Given the description of an element on the screen output the (x, y) to click on. 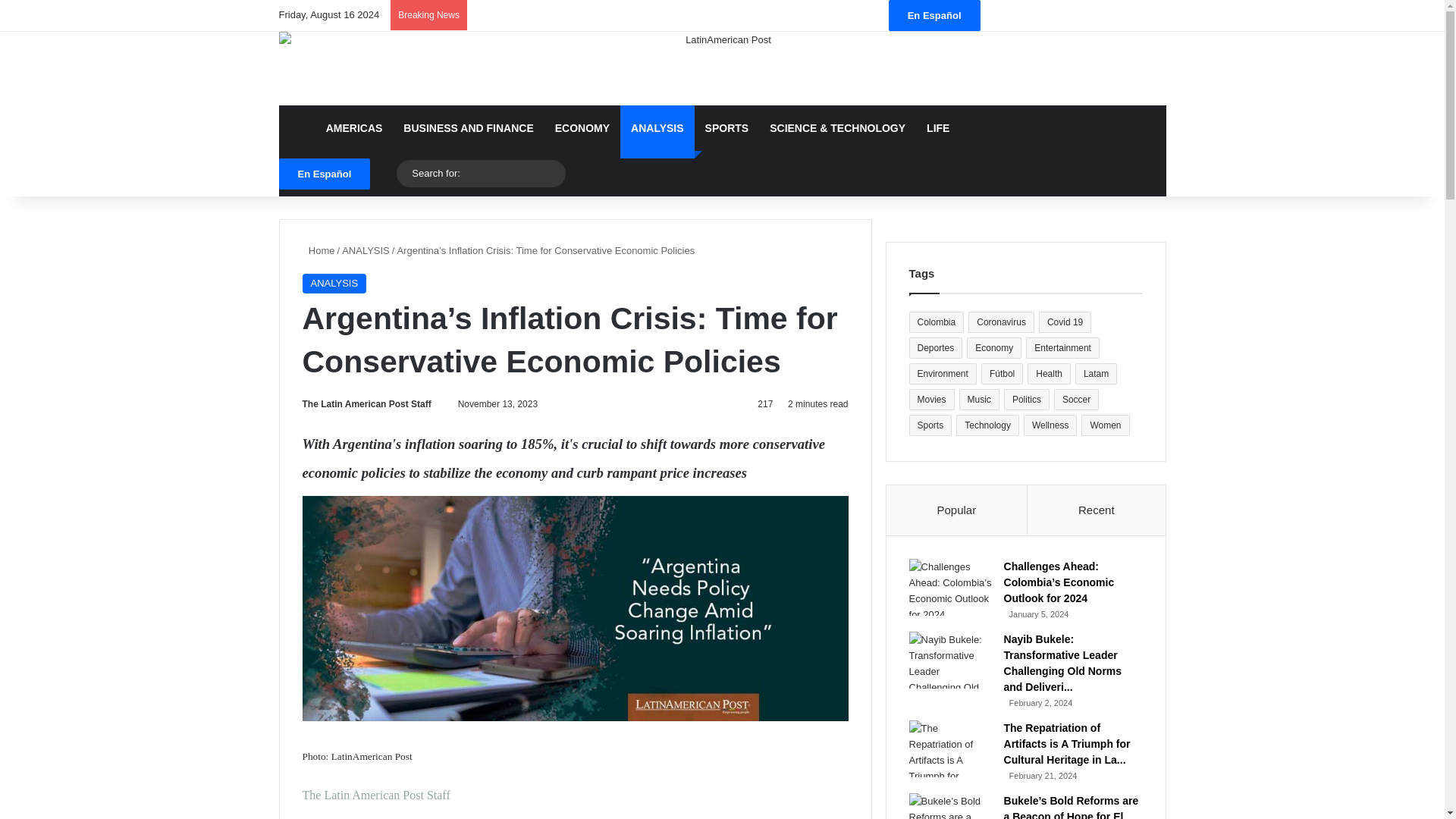
The Latin American Post Staff (365, 403)
ANALYSIS (657, 127)
Home (317, 250)
Search for: (481, 172)
Search for: (550, 173)
ANALYSIS (333, 283)
SPORTS (727, 127)
LIFE (937, 127)
LatinAmerican Post (722, 67)
ANALYSIS (366, 250)
